Given the description of an element on the screen output the (x, y) to click on. 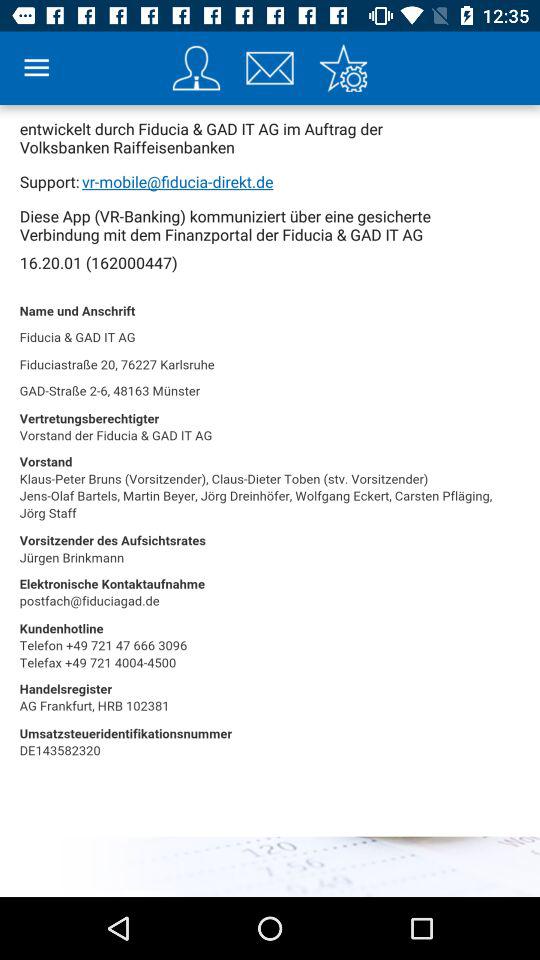
message (269, 67)
